Given the description of an element on the screen output the (x, y) to click on. 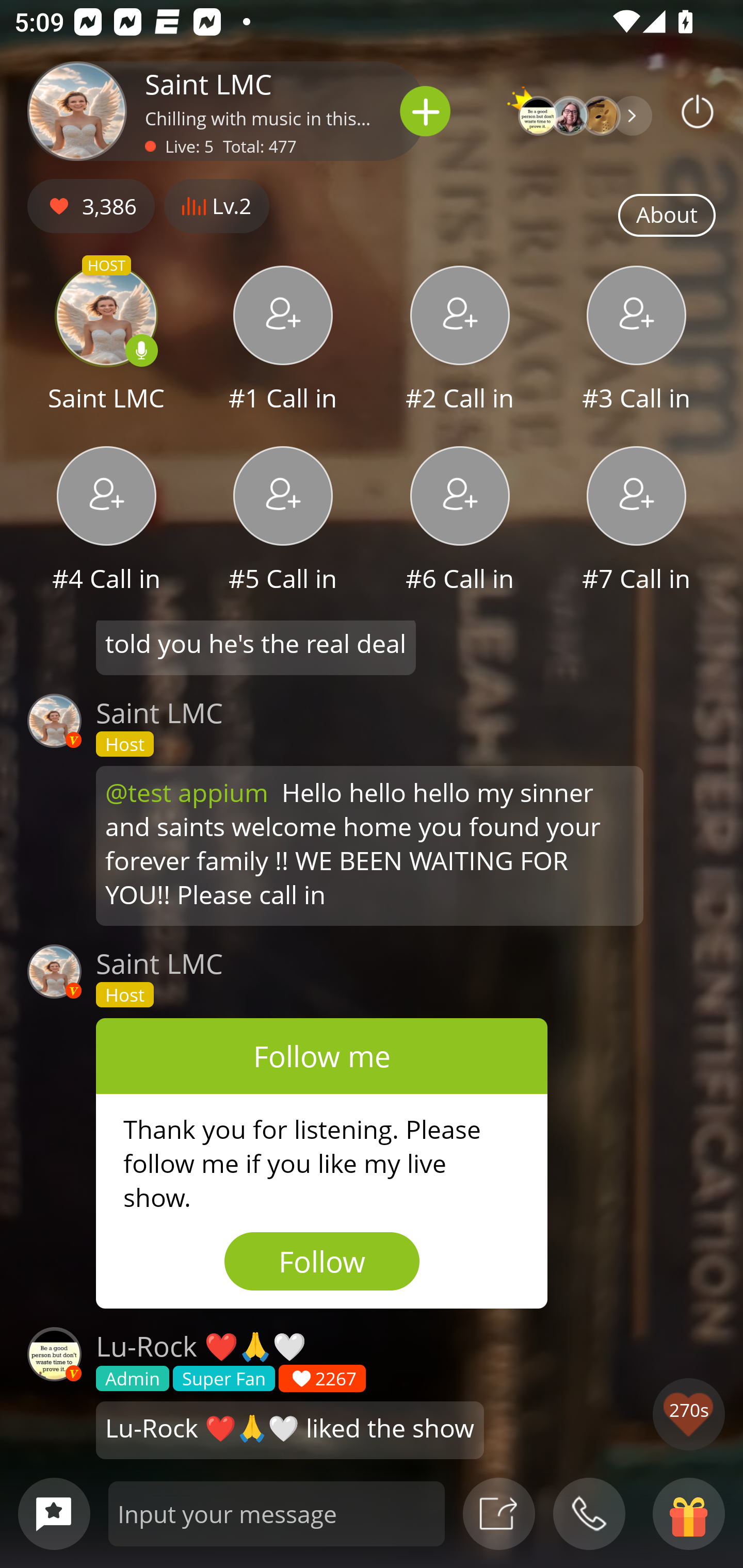
Podbean (697, 111)
About (666, 215)
HOST Saint LMC (105, 340)
#1 Call in (282, 340)
#2 Call in (459, 340)
#3 Call in (636, 340)
#4 Call in (105, 521)
#5 Call in (282, 521)
#6 Call in (459, 521)
#7 Call in (636, 521)
Follow (321, 1261)
Input your message (276, 1513)
